Given the description of an element on the screen output the (x, y) to click on. 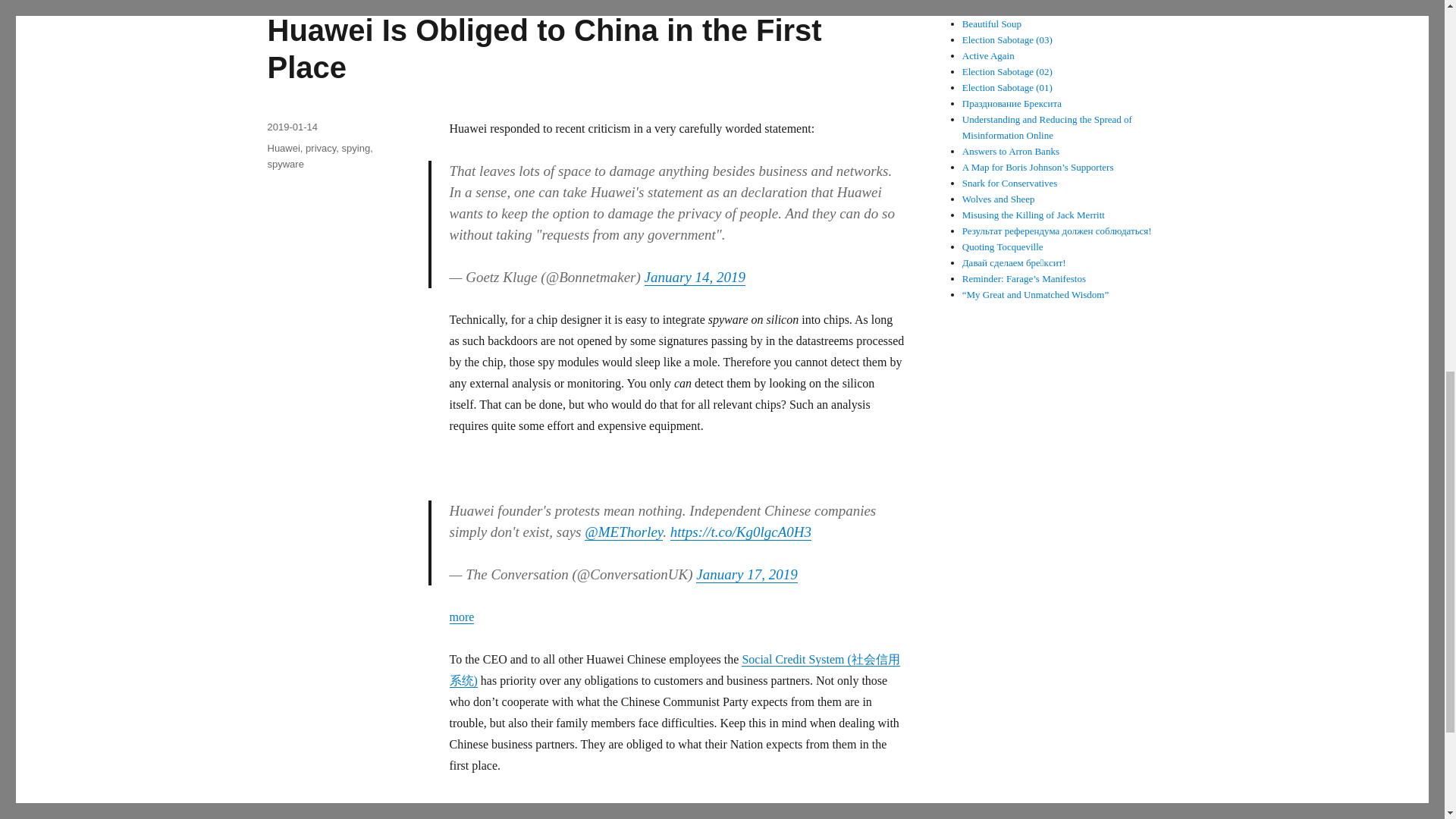
2019-01-14 (291, 126)
more (461, 616)
January 14, 2019 (695, 277)
spyware (284, 163)
Huawei (282, 147)
spying (356, 147)
privacy (320, 147)
Social credit system (545, 807)
January 17, 2019 (746, 574)
Huawei Is Obliged to China in the First Place (543, 48)
